Given the description of an element on the screen output the (x, y) to click on. 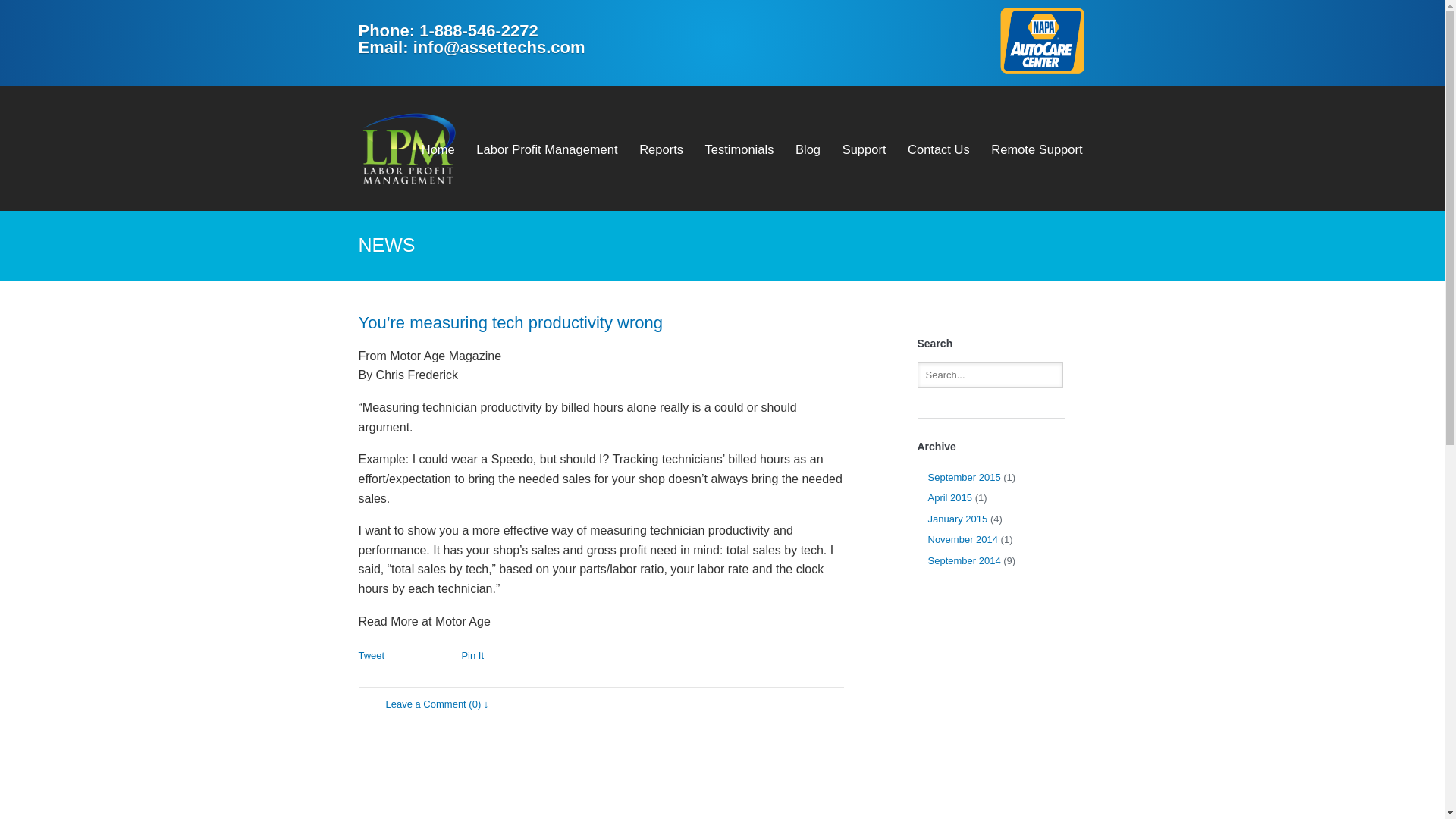
Tweet (371, 655)
September 2015 (964, 477)
Support (863, 149)
Blog (808, 149)
November 2014 (963, 539)
Contact Us (939, 149)
Reports (660, 149)
January 2015 (958, 518)
Pin It (472, 655)
September 2014 (964, 560)
